Given the description of an element on the screen output the (x, y) to click on. 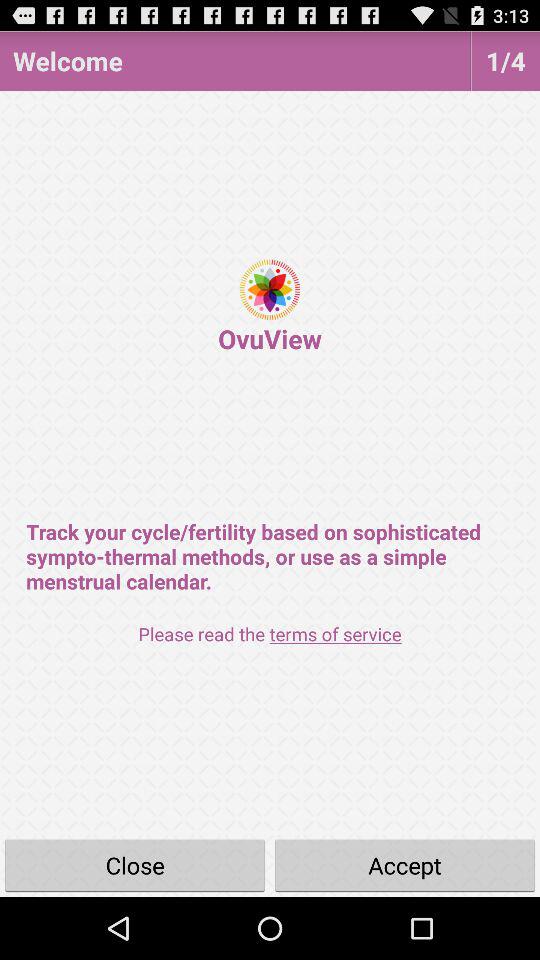
turn on the item next to accept icon (135, 864)
